Given the description of an element on the screen output the (x, y) to click on. 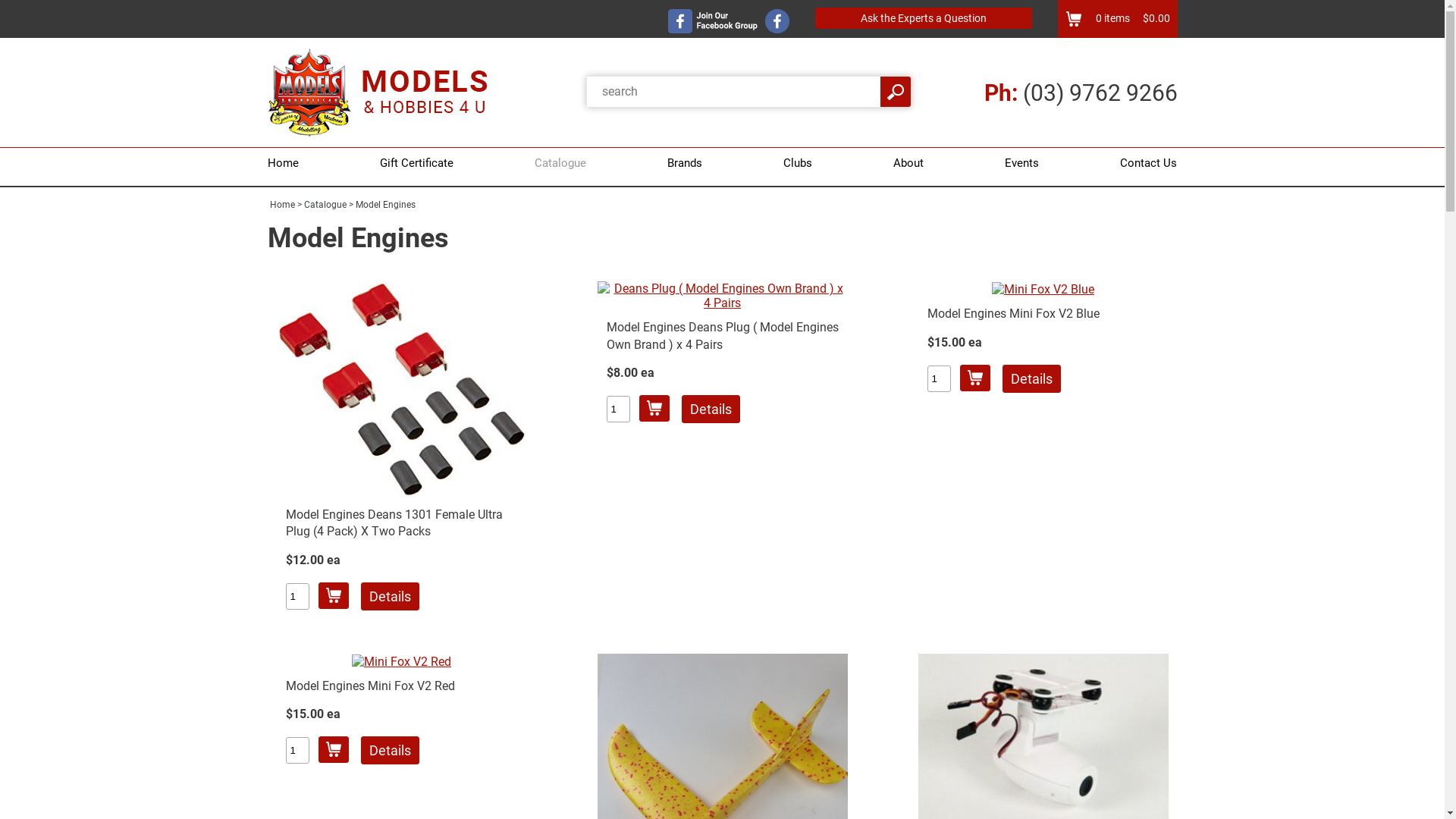
Model Engines Element type: text (384, 204)
About Element type: text (908, 162)
Catalogue Element type: text (324, 204)
Home Element type: text (281, 204)
Details Element type: text (1031, 378)
Details Element type: text (389, 750)
Add to Cart Element type: text (975, 377)
Contact Us Element type: text (1144, 162)
$0.00 Element type: text (1149, 18)
Ph: (03) 9762 9266 Element type: text (1080, 92)
Catalogue Element type: text (560, 162)
Add to Cart Element type: text (653, 408)
Events Element type: text (1021, 162)
Model Engines Mini Fox V2 Red Element type: text (369, 685)
Home Element type: text (285, 162)
Details Element type: text (709, 409)
0 items Element type: text (1112, 18)
Details Element type: text (389, 596)
Clubs Element type: text (797, 162)
Model Engines Mini Fox V2 Blue Element type: text (1012, 313)
Gift Certificate Element type: text (416, 162)
Add to Cart Element type: text (333, 749)
Ask the Experts a Question Element type: text (922, 17)
Add to Cart Element type: text (333, 595)
Brands Element type: text (684, 162)
